Given the description of an element on the screen output the (x, y) to click on. 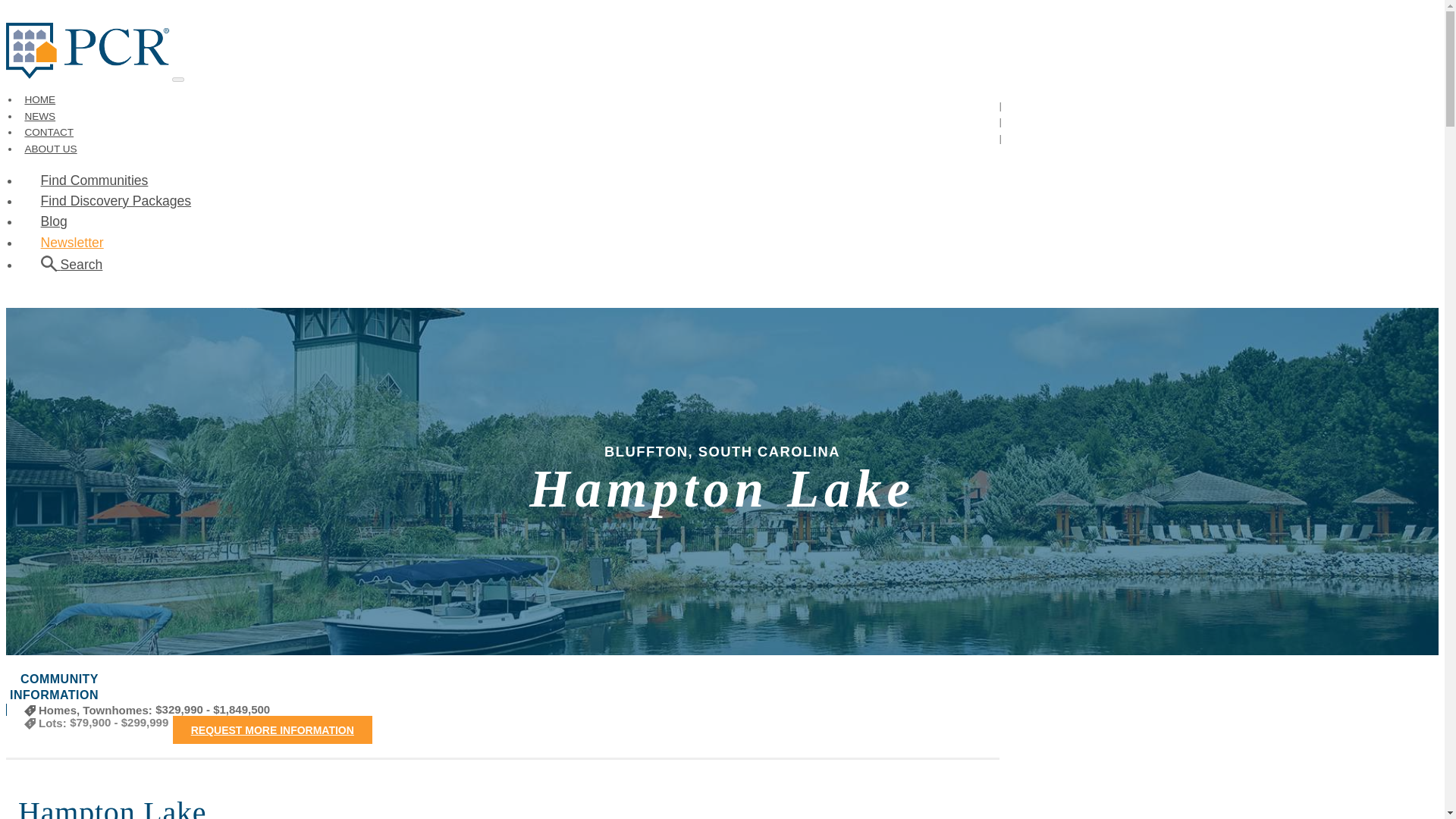
PCR Home (39, 99)
ABOUT US (50, 148)
Search (71, 264)
Contact PrivateCommunities.com (49, 132)
CONTACT (49, 132)
HOME (39, 99)
About PrivateCommunities.com (50, 148)
PCR Blog (53, 221)
Discovery Packages (116, 200)
Blog (53, 221)
Newsletter (71, 242)
Find Discovery Packages (116, 200)
Newsletter (71, 242)
REQUEST MORE INFORMATION (272, 729)
Find Communities (94, 180)
